Given the description of an element on the screen output the (x, y) to click on. 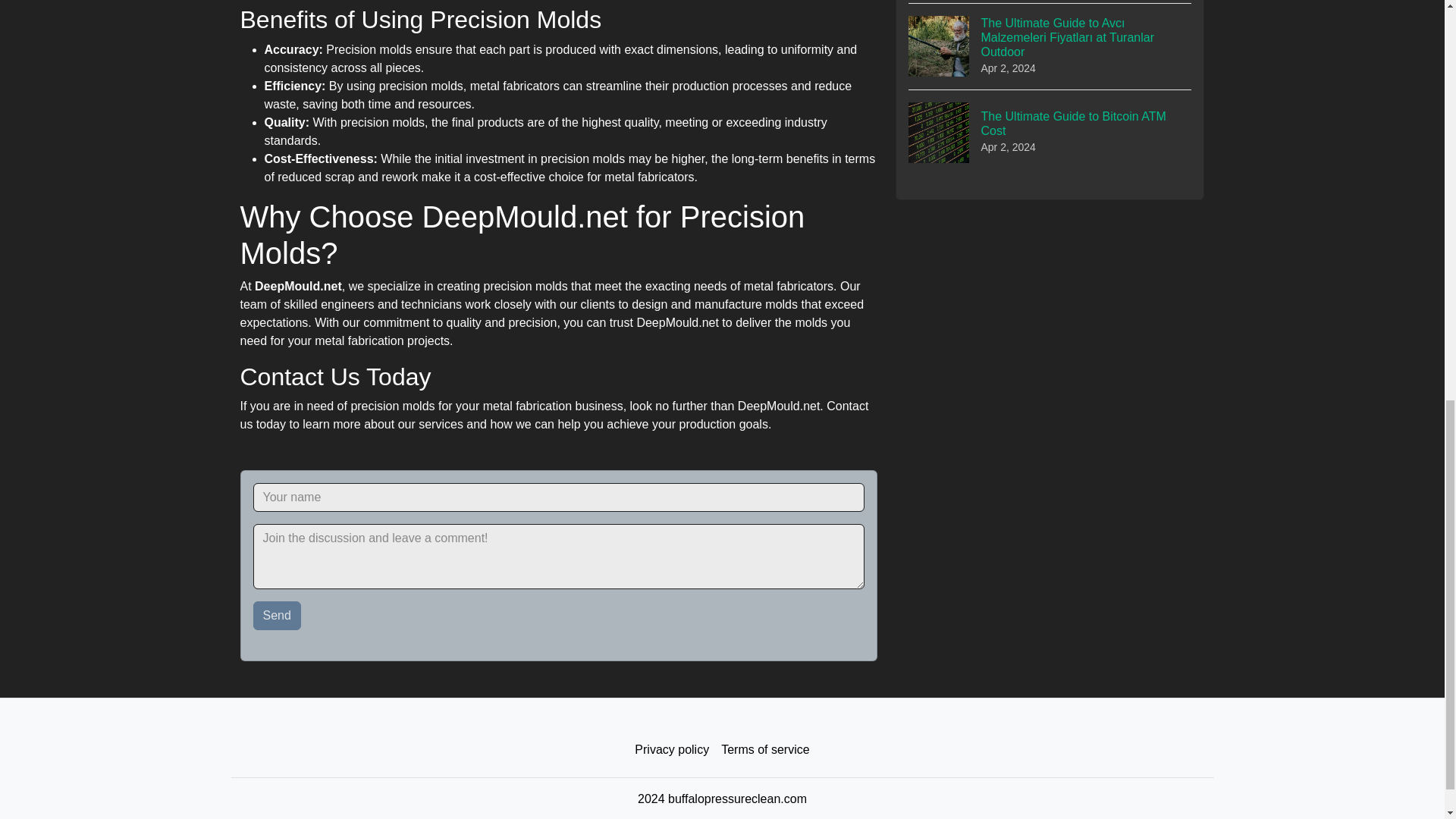
Terms of service (764, 749)
Send (277, 615)
Send (277, 615)
Privacy policy (671, 749)
